Given the description of an element on the screen output the (x, y) to click on. 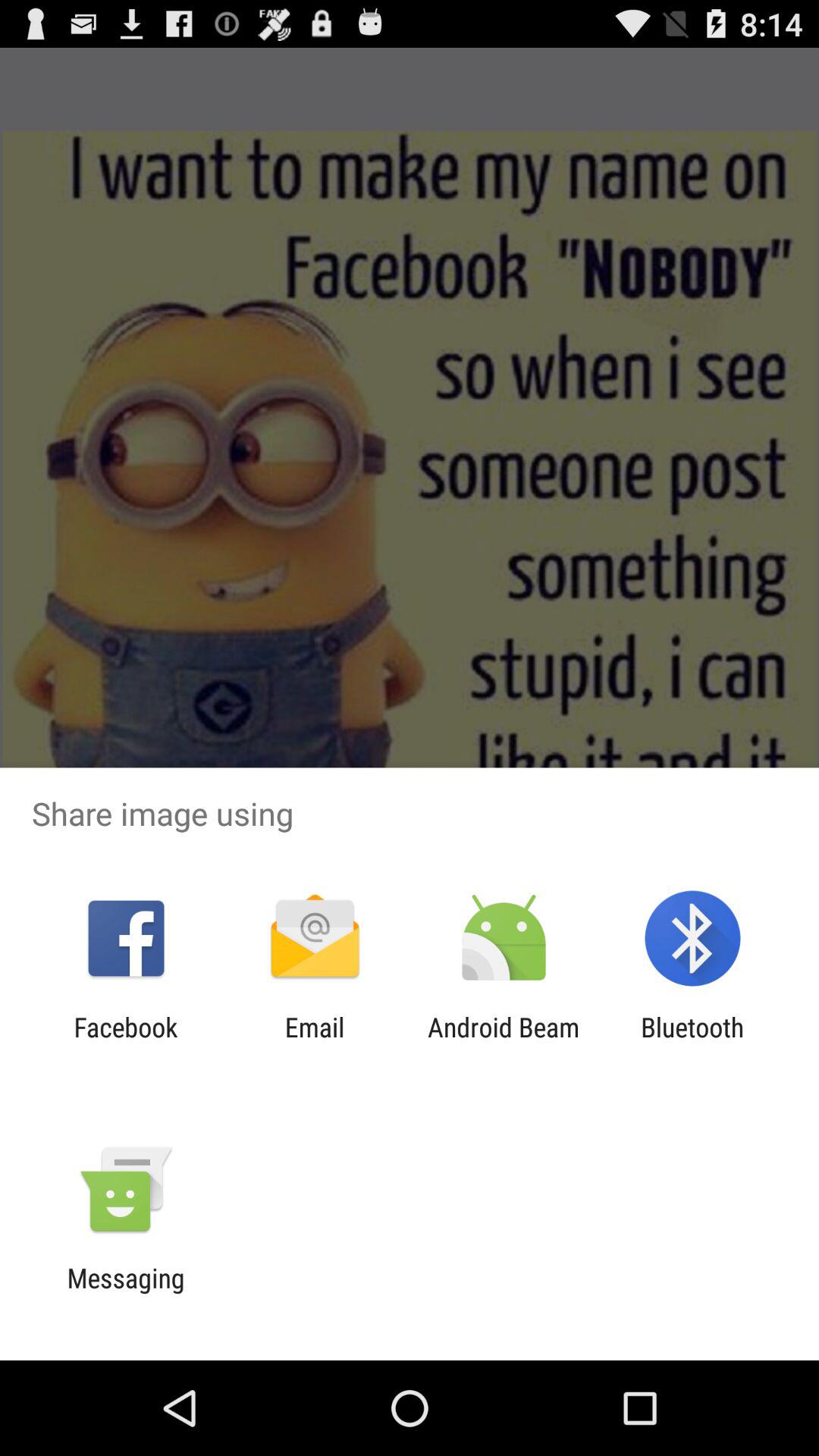
select the bluetooth item (691, 1042)
